Given the description of an element on the screen output the (x, y) to click on. 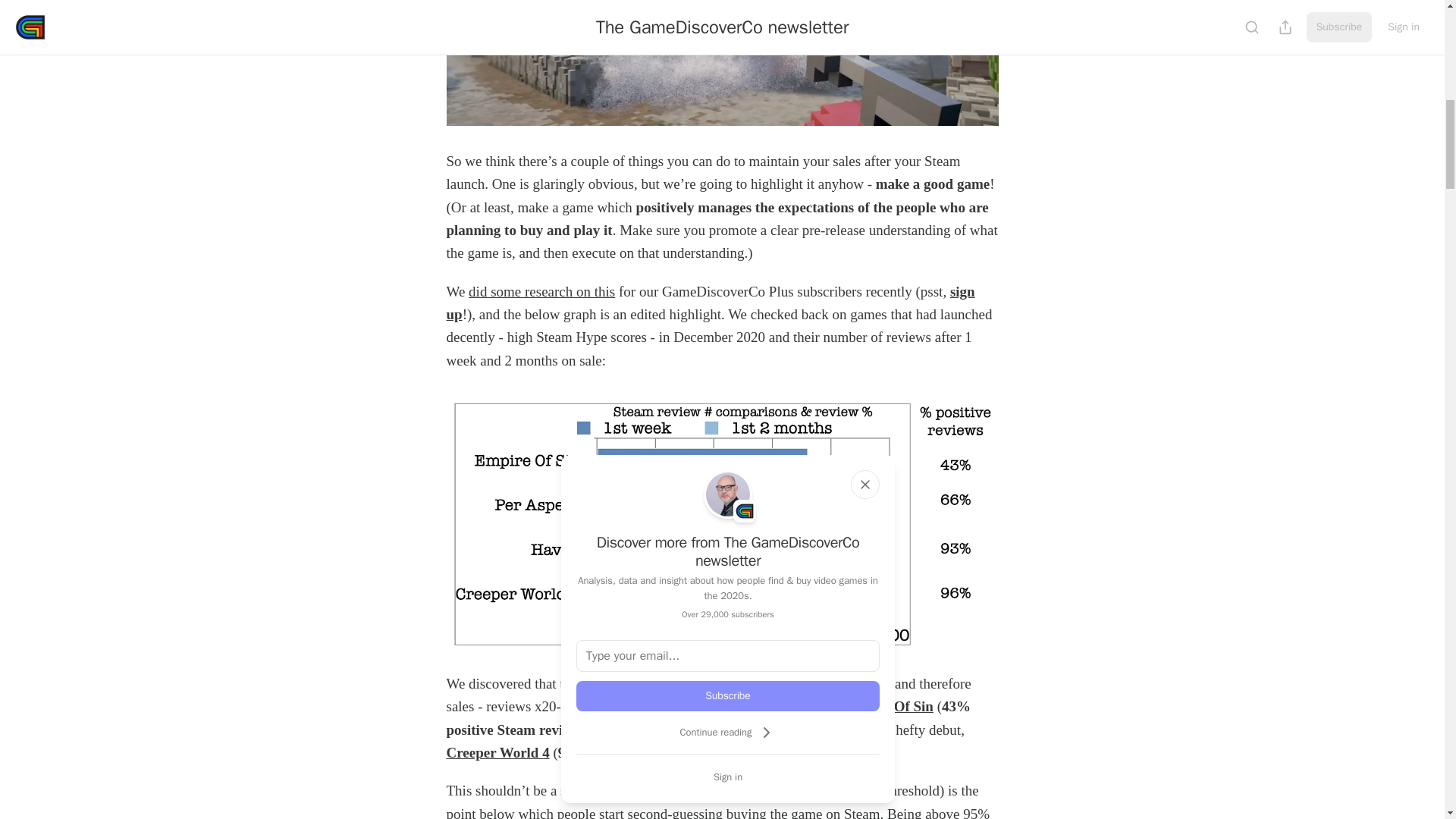
Sign in (727, 776)
sign up (709, 302)
Empire Of Sin (888, 706)
did some research on this (541, 291)
Subscribe (727, 695)
Creeper World 4 (496, 752)
